Given the description of an element on the screen output the (x, y) to click on. 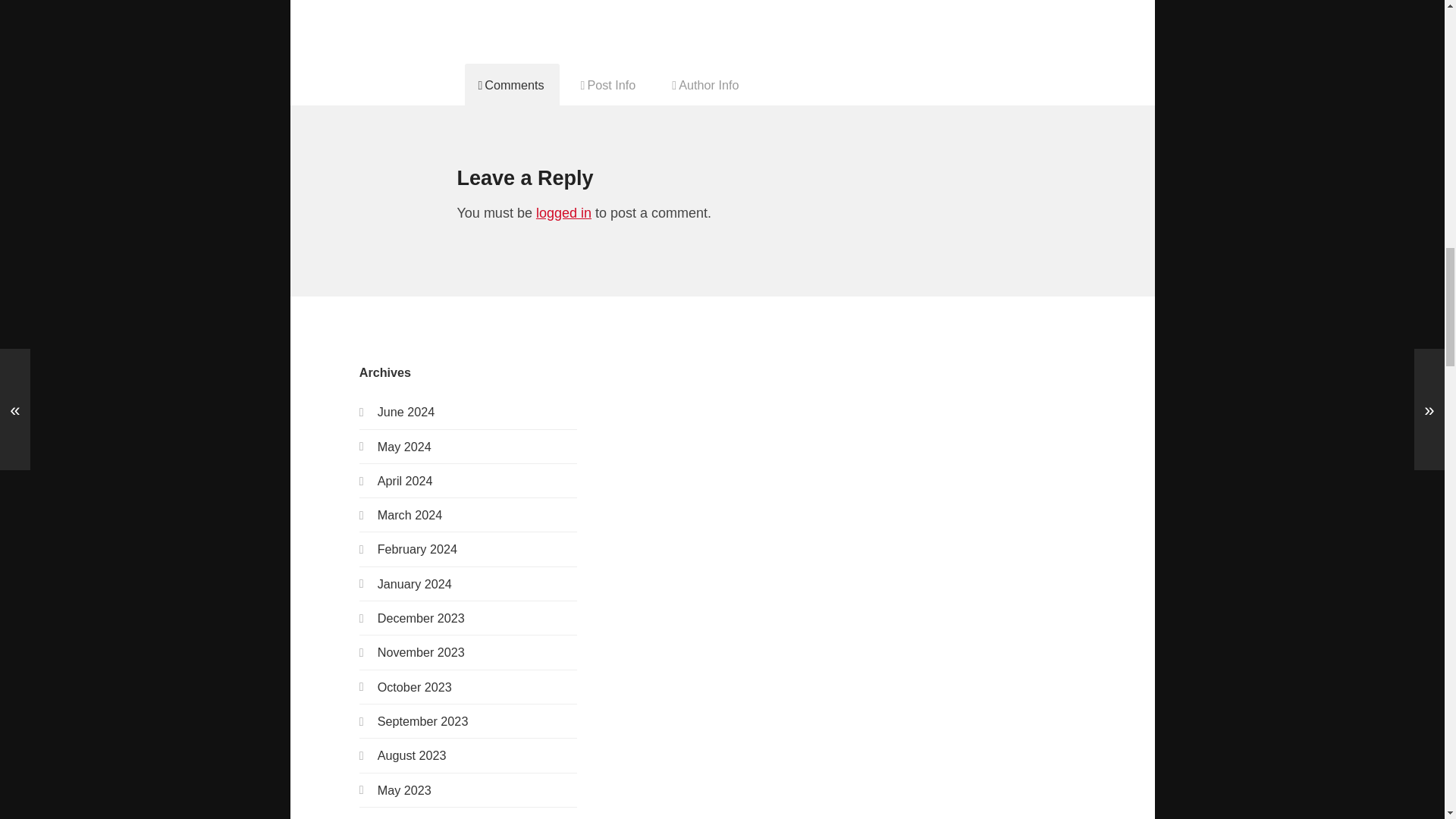
Comments (511, 83)
logged in (563, 212)
Post Info (608, 83)
Author Info (706, 83)
